Given the description of an element on the screen output the (x, y) to click on. 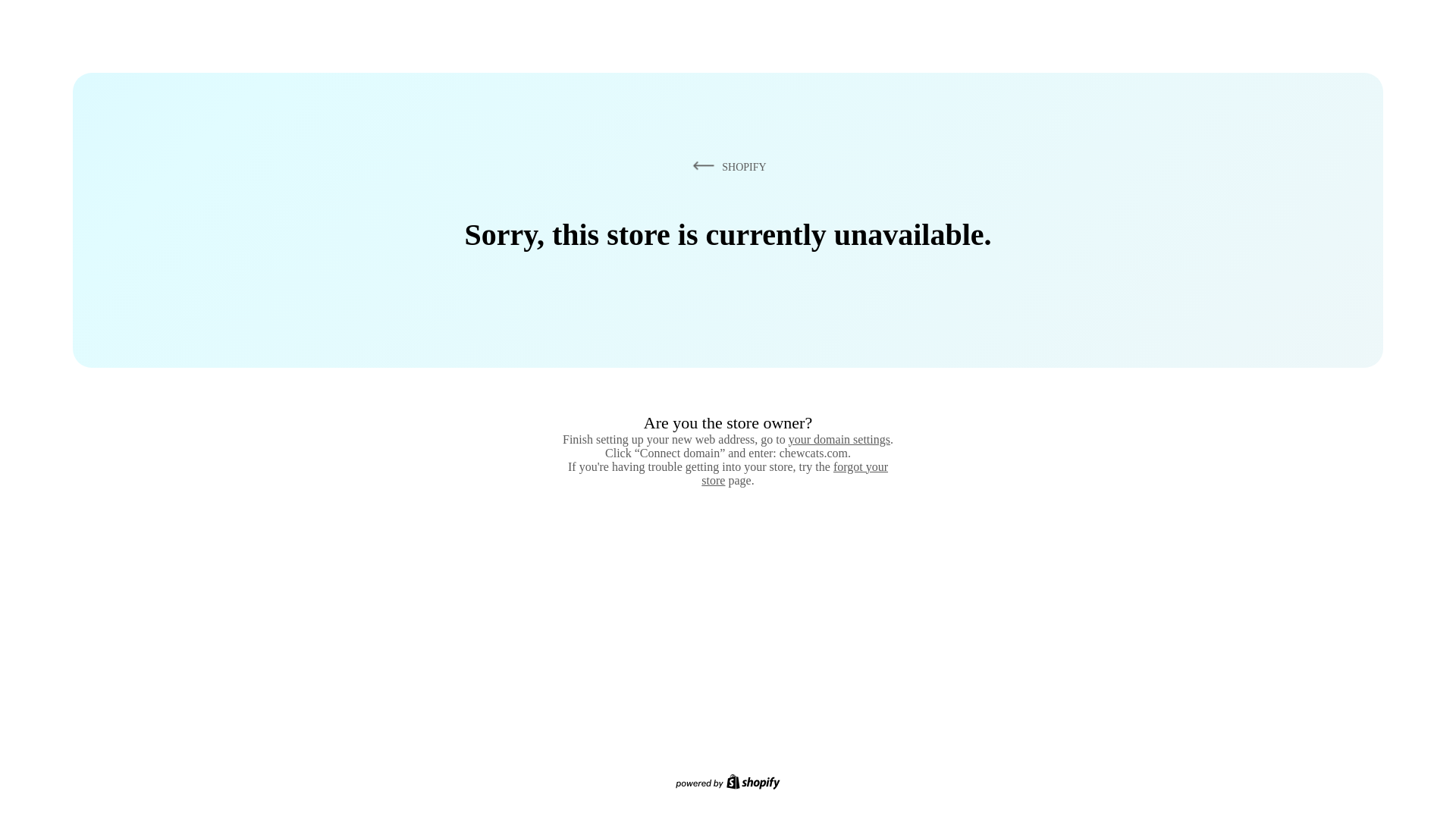
your domain settings (839, 439)
SHOPIFY (726, 166)
forgot your store (794, 473)
